Given the description of an element on the screen output the (x, y) to click on. 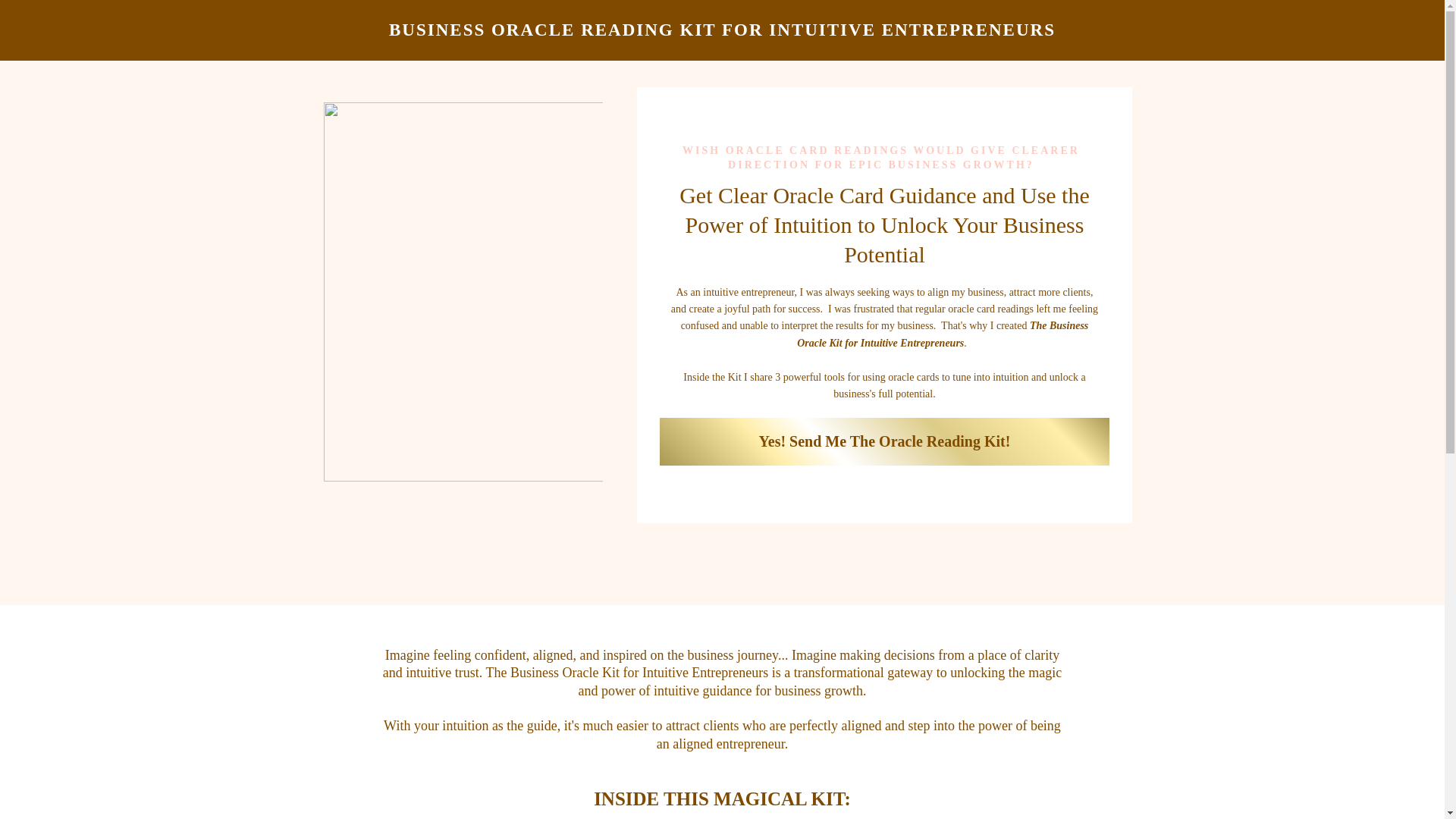
Yes! Send Me The Oracle Reading Kit! (884, 441)
